Given the description of an element on the screen output the (x, y) to click on. 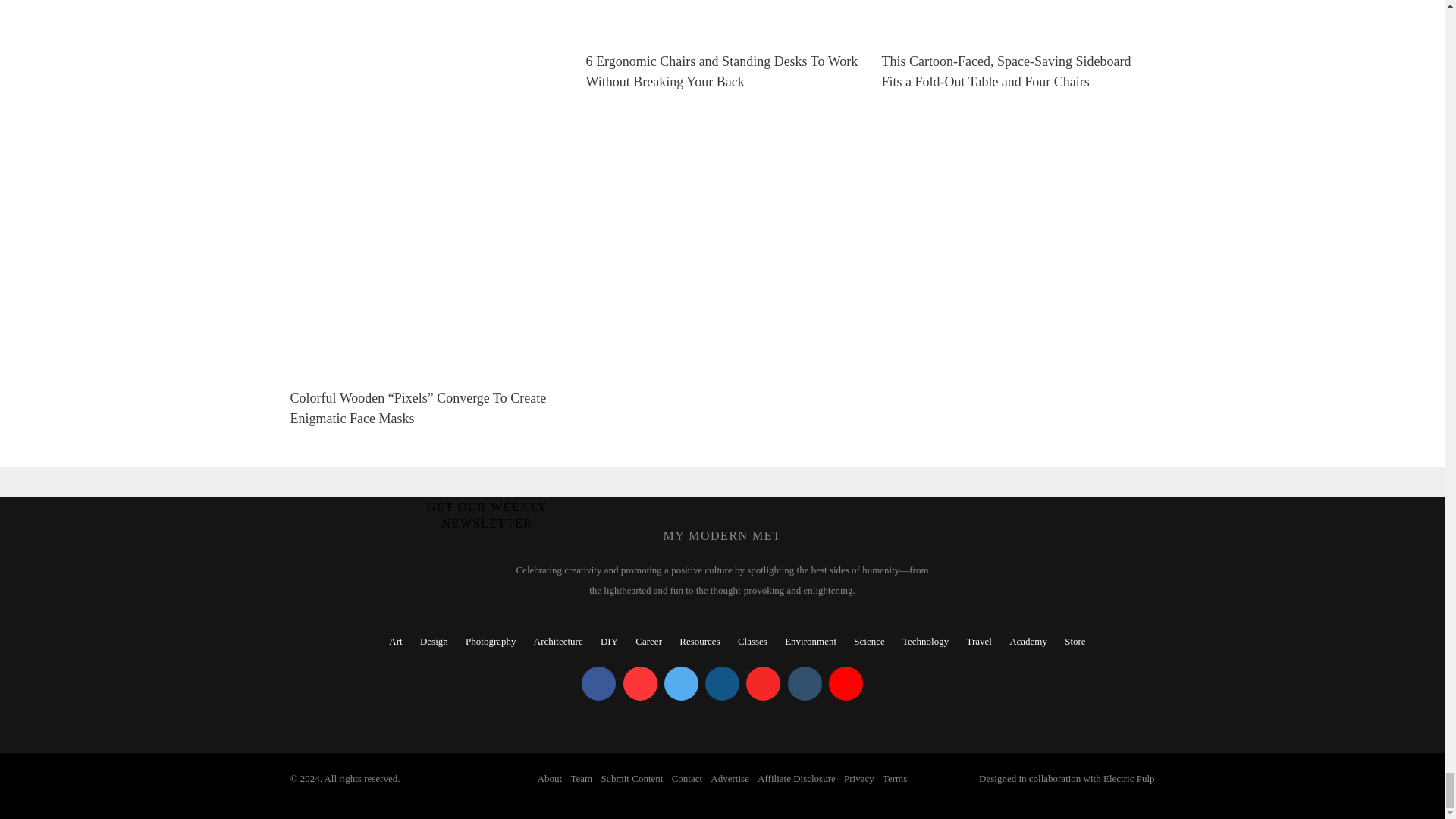
My Modern Met on Facebook (597, 683)
My Modern Met on Tumblr (804, 683)
My Modern Met on Twitter (680, 683)
My Modern Met on Instagram (721, 683)
My Modern Met on Pinterest (640, 683)
My Modern Met on YouTube (845, 683)
